Given the description of an element on the screen output the (x, y) to click on. 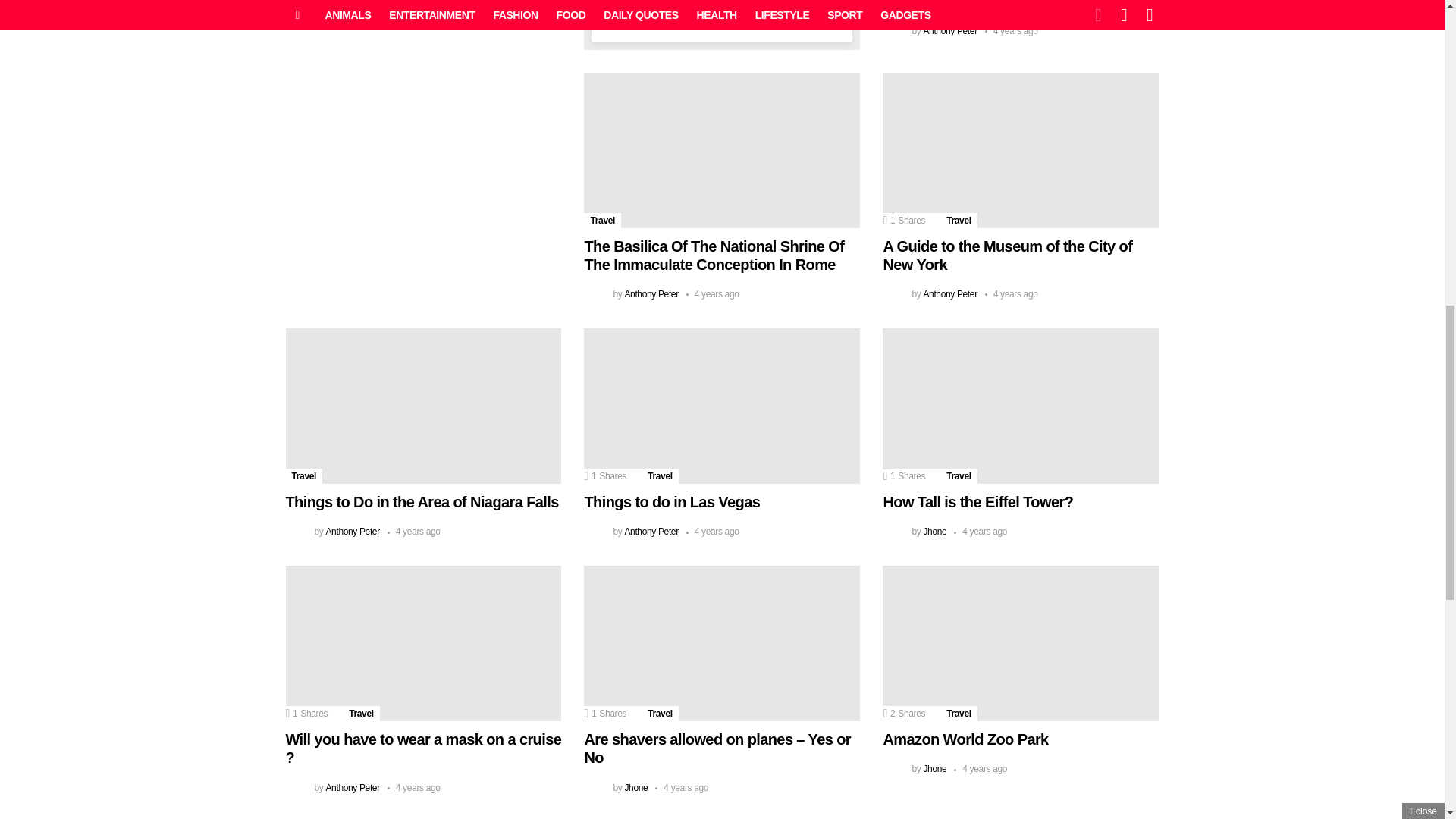
Sign up (722, 2)
January 8, 2021, 7:13 am (712, 294)
Posts by Anthony Peter (949, 294)
Posts by Anthony Peter (651, 294)
Posts by Anthony Peter (351, 12)
January 13, 2021, 6:36 am (1011, 30)
A Guide to the Museum of the City of New York (1020, 150)
January 18, 2021, 11:15 am (414, 12)
Posts by Anthony Peter (949, 30)
January 4, 2021, 11:21 am (1011, 294)
